Given the description of an element on the screen output the (x, y) to click on. 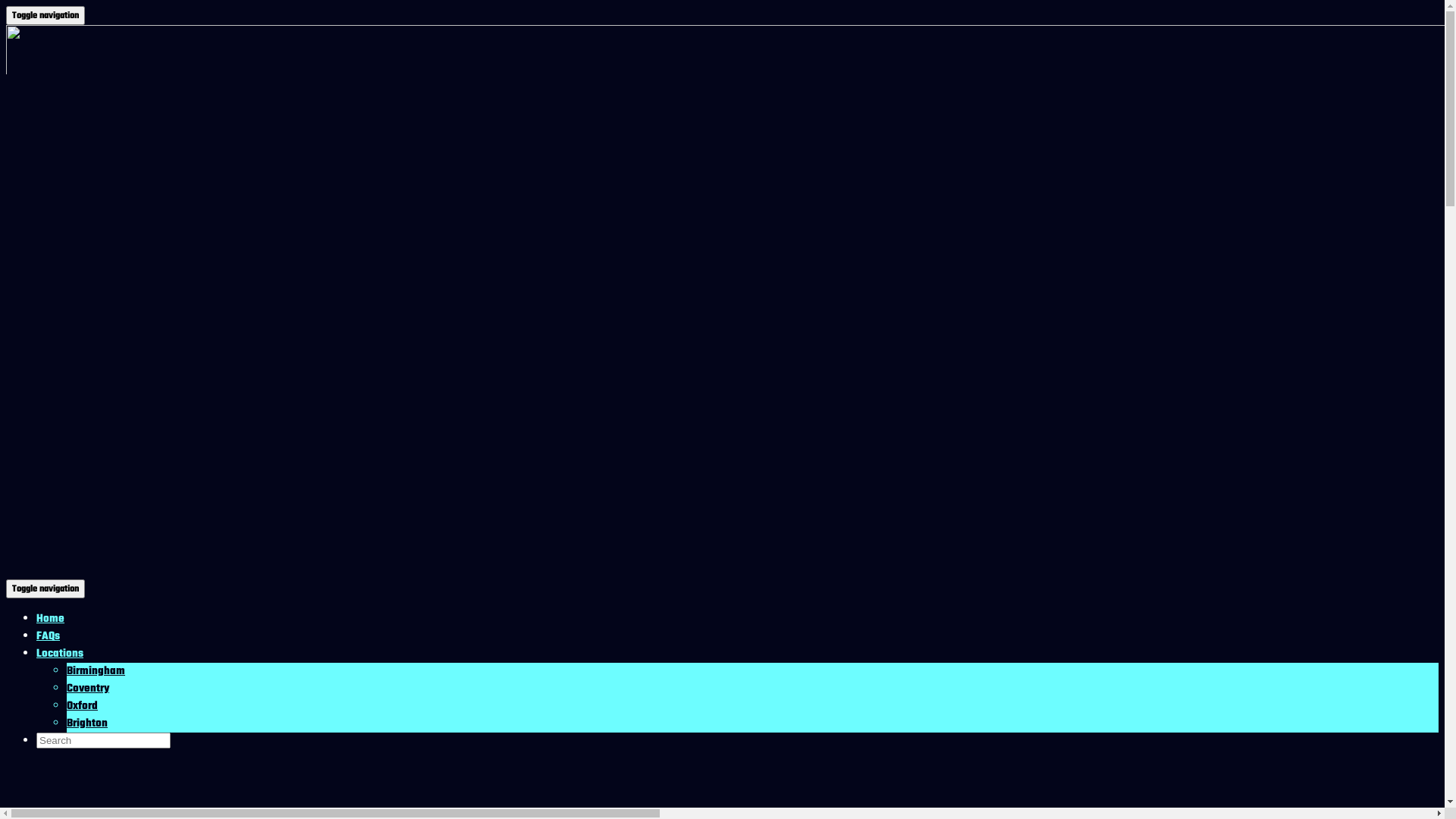
Brighton Element type: text (86, 723)
Toggle navigation Element type: text (45, 15)
Toggle navigation Element type: text (45, 588)
Oxford Element type: text (81, 706)
Home Element type: text (50, 618)
Locations Element type: text (59, 653)
Birmingham Element type: text (95, 671)
Coventry Element type: text (87, 688)
FAQs Element type: text (47, 636)
